Given the description of an element on the screen output the (x, y) to click on. 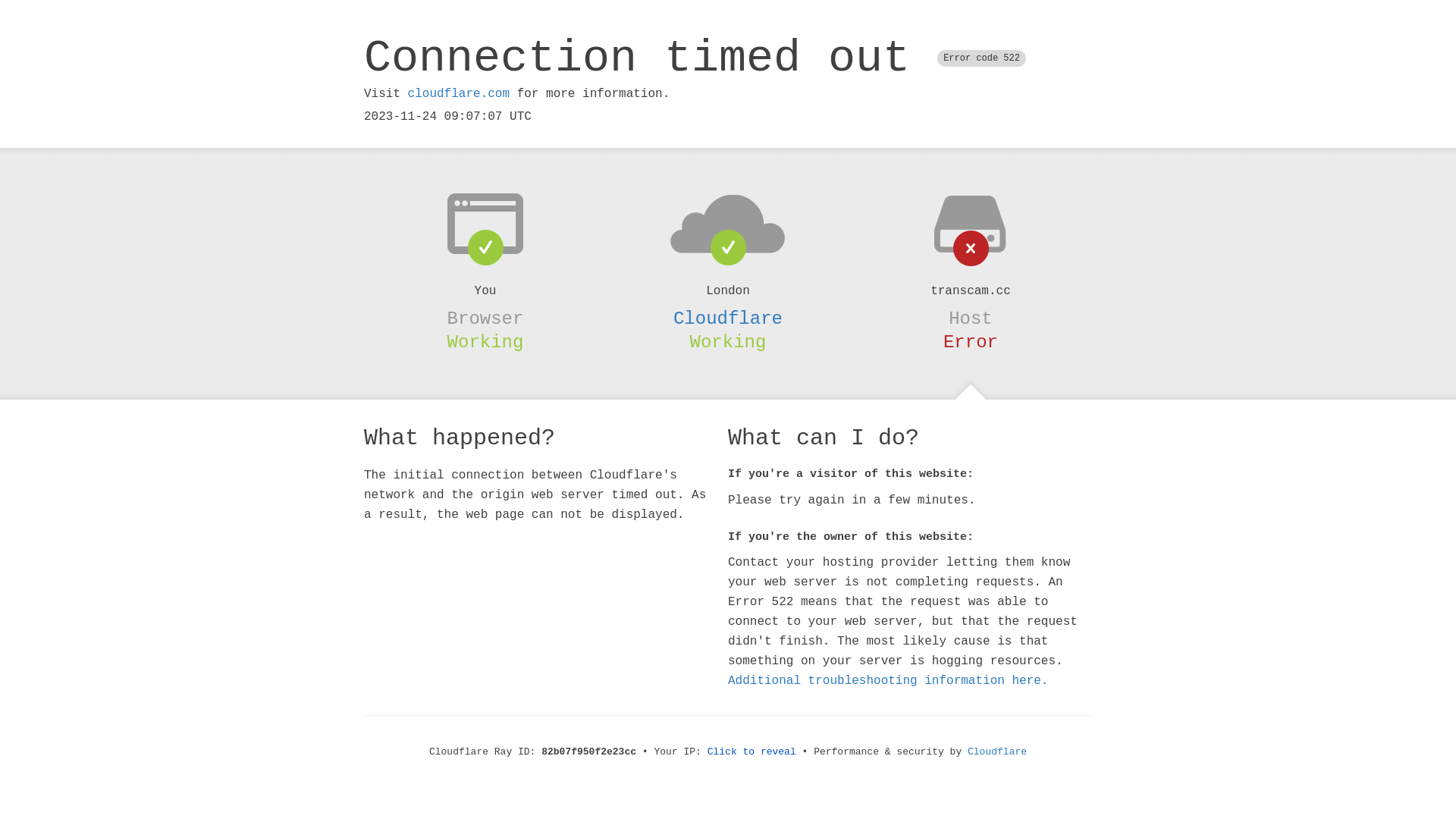
Cloudflare Element type: text (996, 751)
cloudflare.com Element type: text (458, 93)
Cloudflare Element type: text (727, 318)
Additional troubleshooting information here. Element type: text (888, 680)
Click to reveal Element type: text (751, 751)
